Given the description of an element on the screen output the (x, y) to click on. 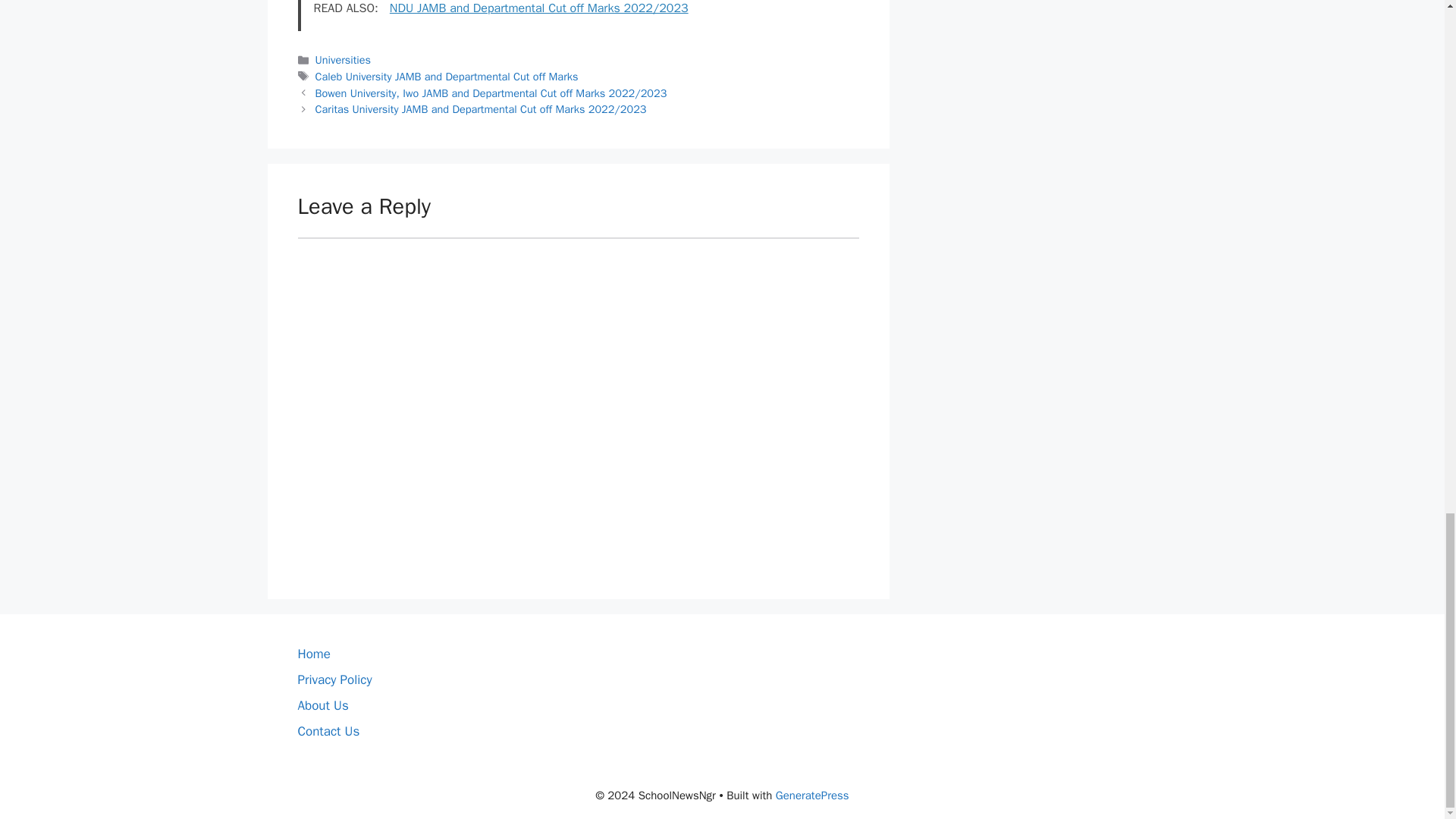
GeneratePress (812, 795)
Scroll back to top (1406, 141)
Universities (343, 59)
Caleb University JAMB and Departmental Cut off Marks (446, 76)
About Us (322, 705)
Privacy Policy (334, 679)
Contact Us (328, 731)
Home (313, 653)
